Given the description of an element on the screen output the (x, y) to click on. 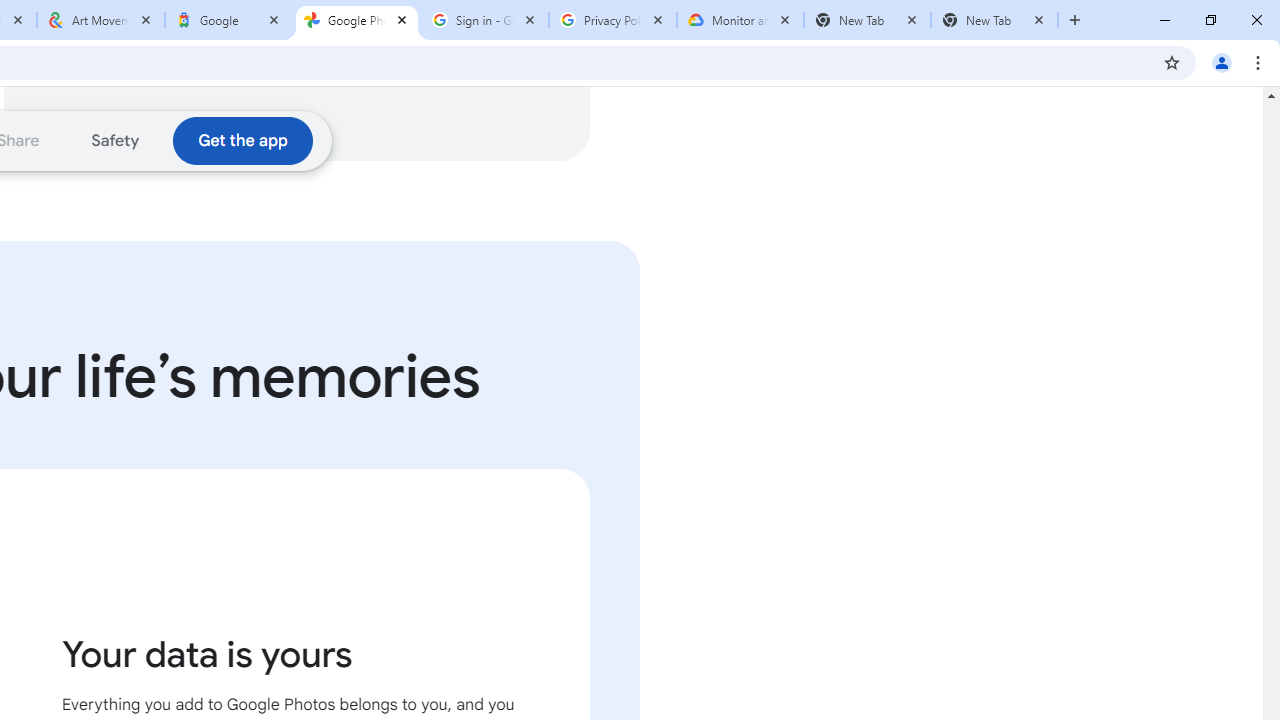
Sign in - Google Accounts (485, 20)
